Given the description of an element on the screen output the (x, y) to click on. 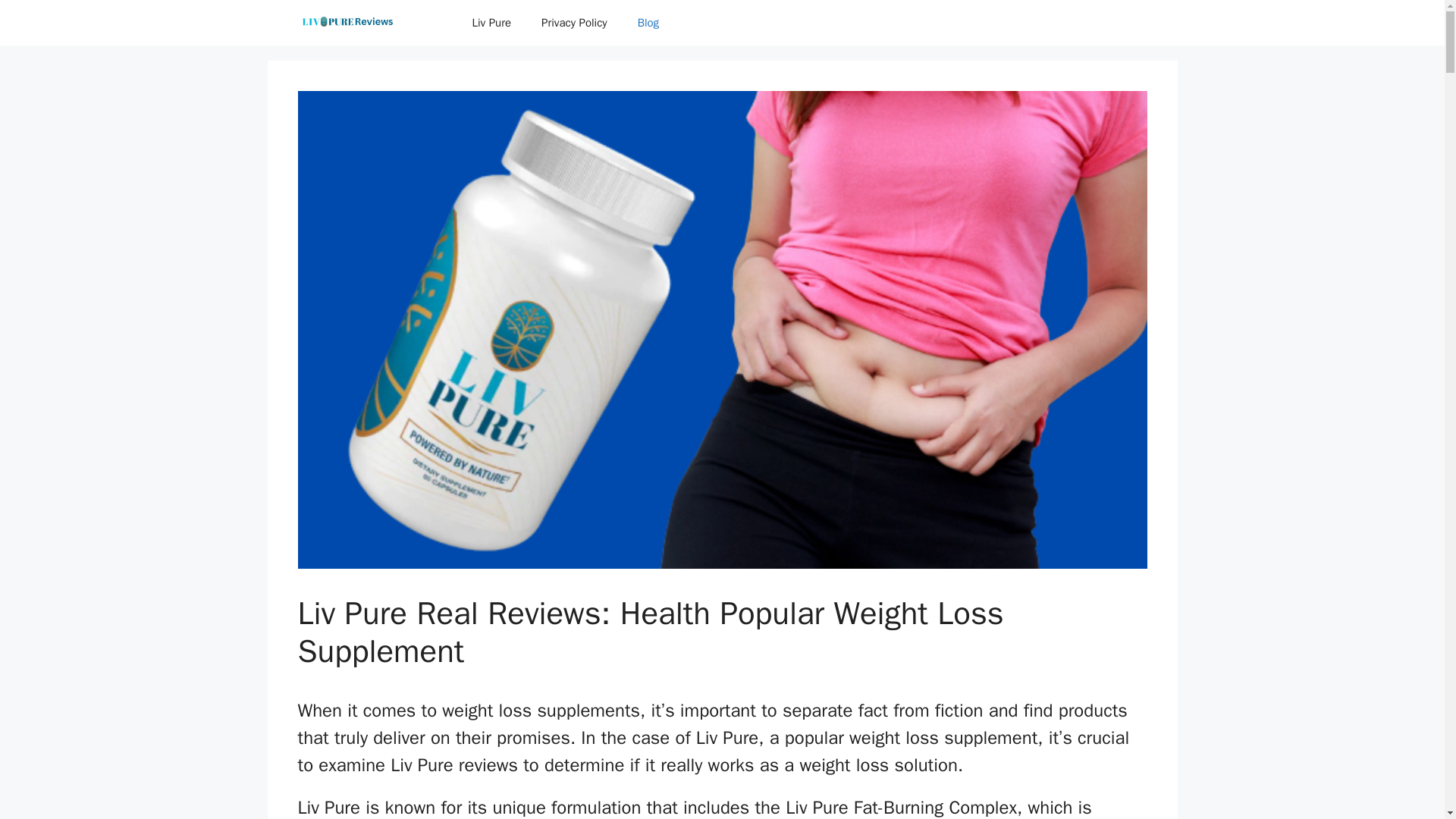
Blog (648, 22)
Liv Pure Reviews: Does Livpure Help You Lose Weight? (372, 22)
Liv Pure (491, 22)
Privacy Policy (574, 22)
